Given the description of an element on the screen output the (x, y) to click on. 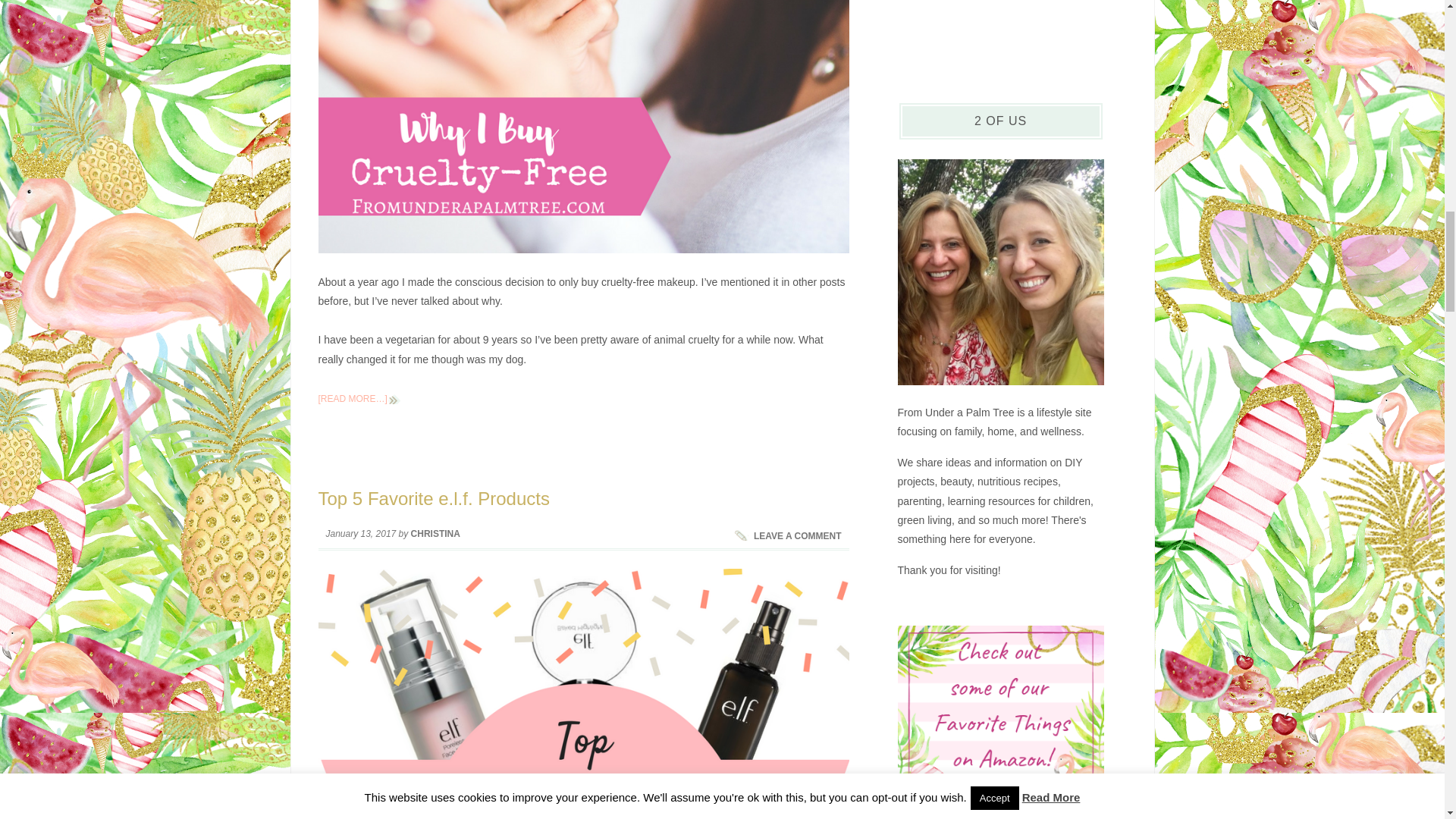
Advertisement (1000, 32)
